Given the description of an element on the screen output the (x, y) to click on. 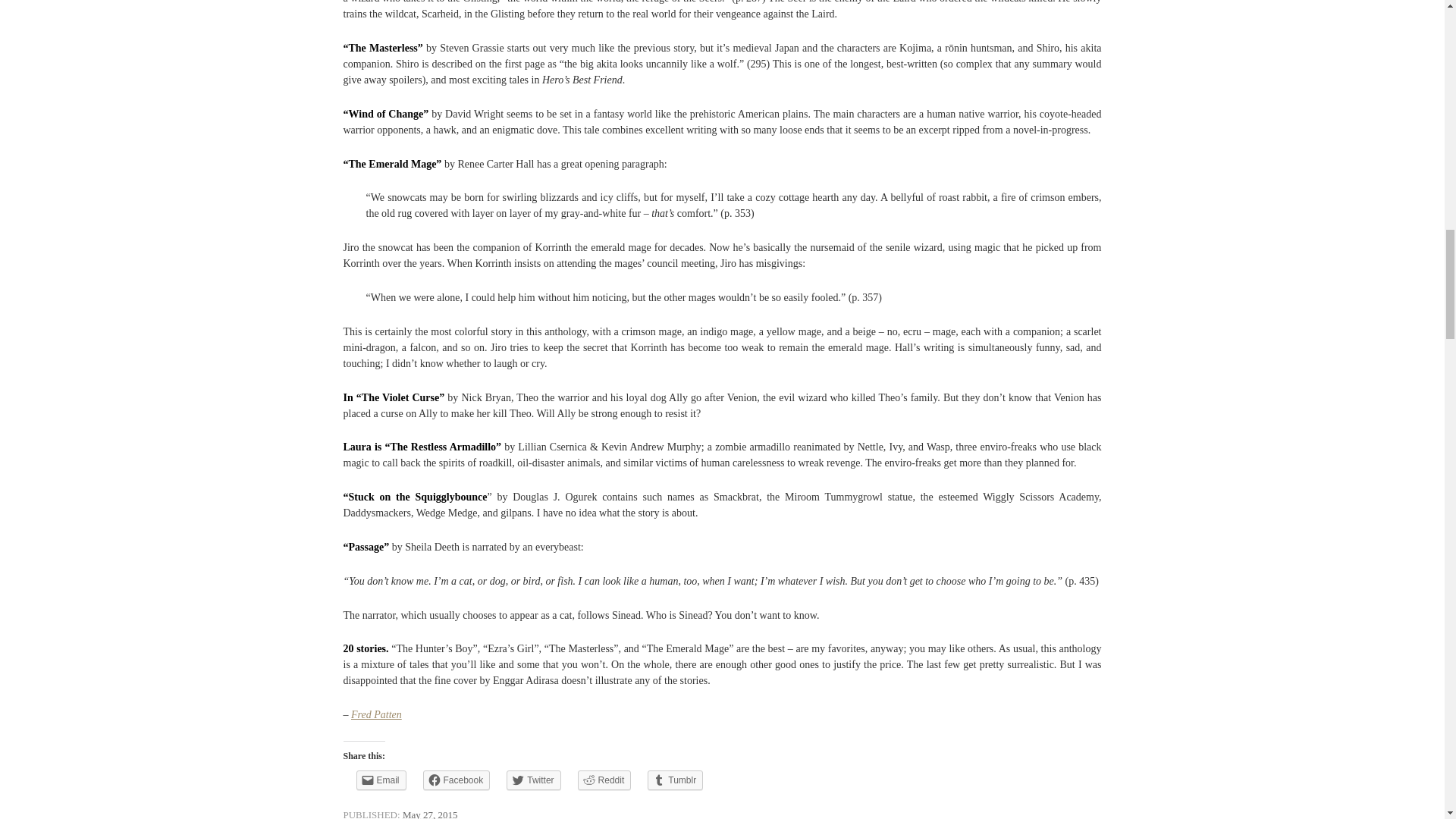
Twitter (533, 780)
Fred Patten (375, 714)
Email (381, 780)
Click to share on Twitter (533, 780)
Reddit (604, 780)
Click to email a link to a friend (381, 780)
May 27, 2015 (430, 814)
Click to share on Tumblr (675, 780)
Click to share on Facebook (456, 780)
Facebook (456, 780)
